Given the description of an element on the screen output the (x, y) to click on. 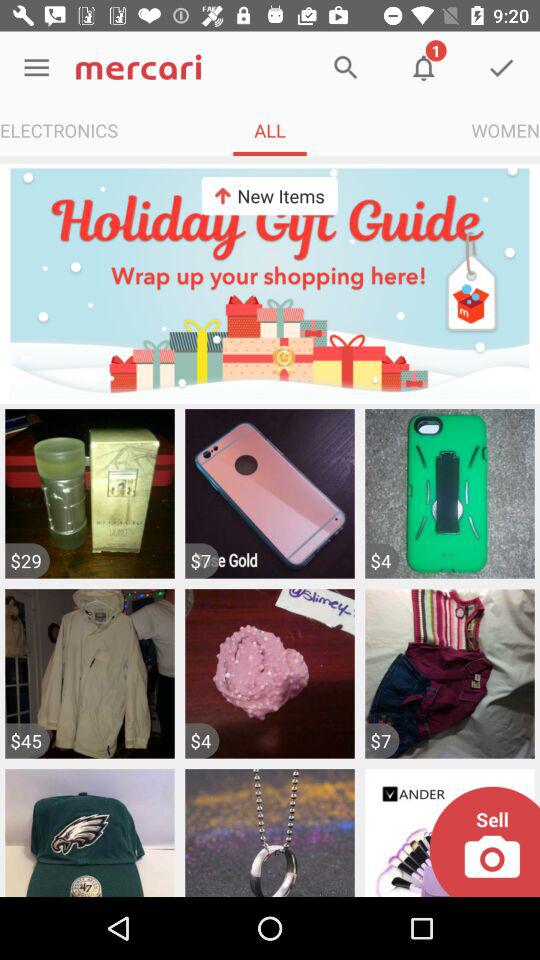
turn off the item below electronics icon (270, 283)
